Given the description of an element on the screen output the (x, y) to click on. 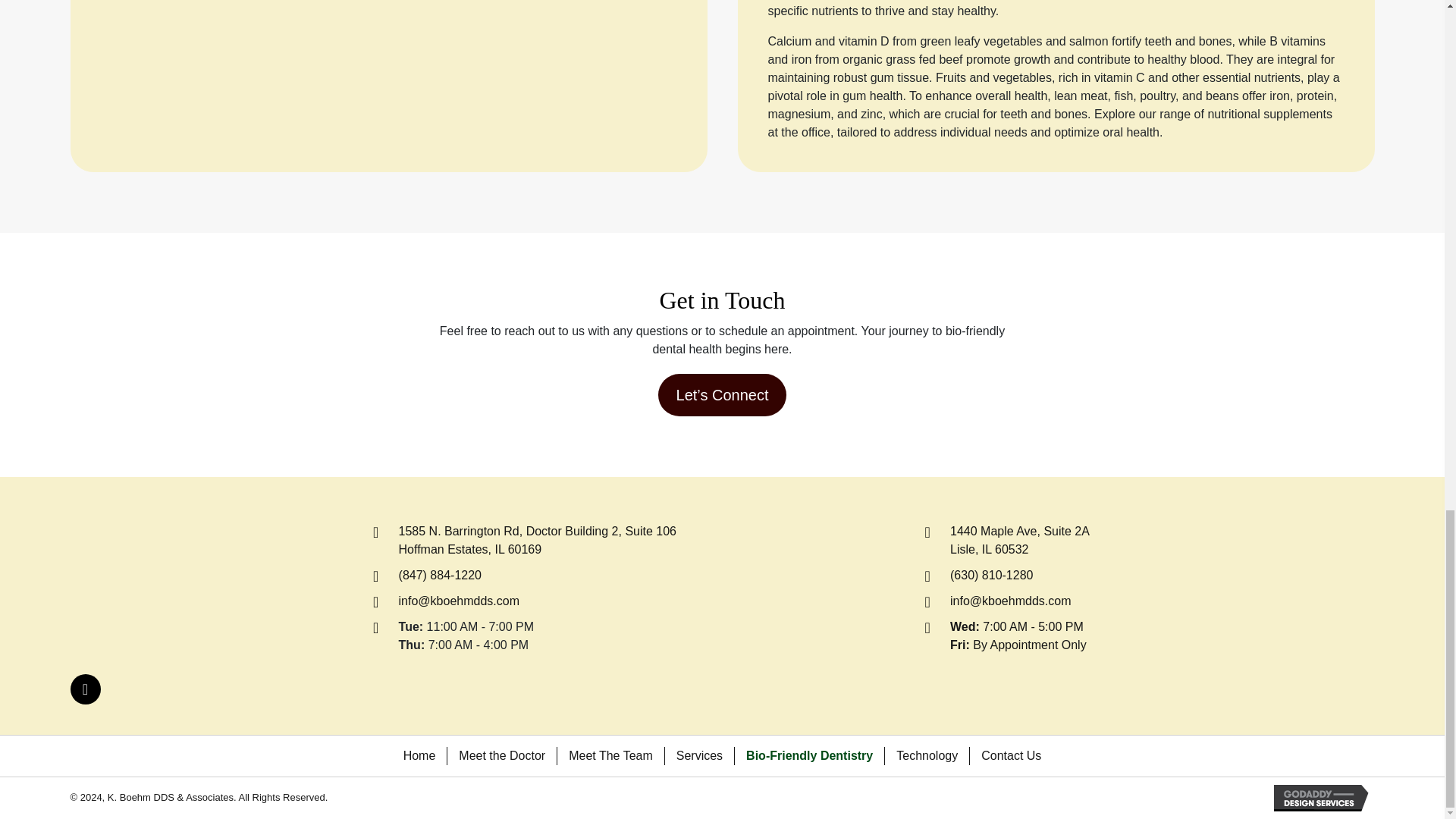
Meet The Team (610, 755)
logo (137, 590)
Bio-Friendly Dentistry (809, 755)
Meet the Doctor (1019, 540)
Contact Us (501, 755)
Technology (1010, 755)
Home (927, 755)
Facebook (418, 755)
